Given the description of an element on the screen output the (x, y) to click on. 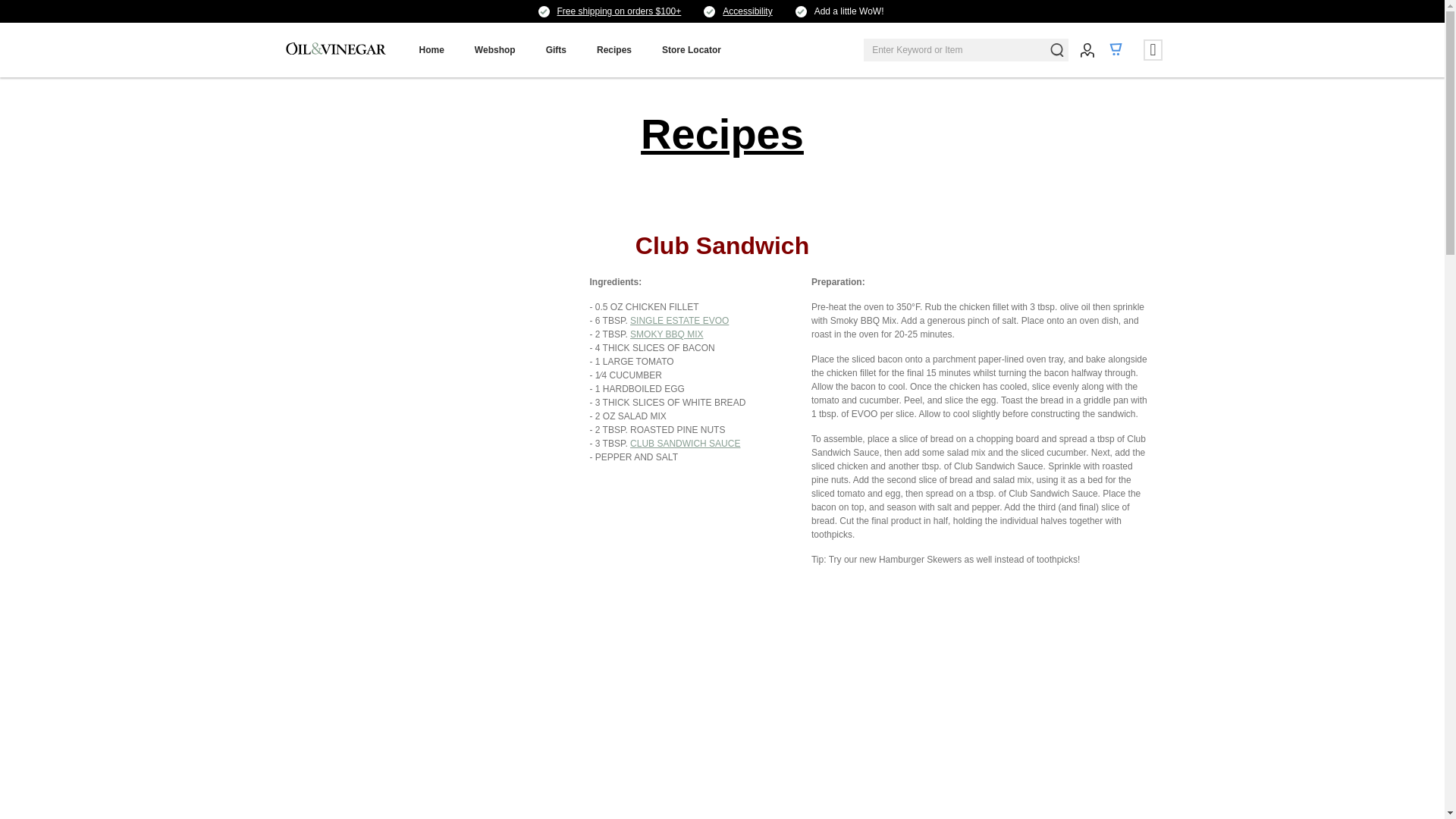
Page 2 (684, 394)
Webshop (495, 49)
Accessibility (746, 10)
